Given the description of an element on the screen output the (x, y) to click on. 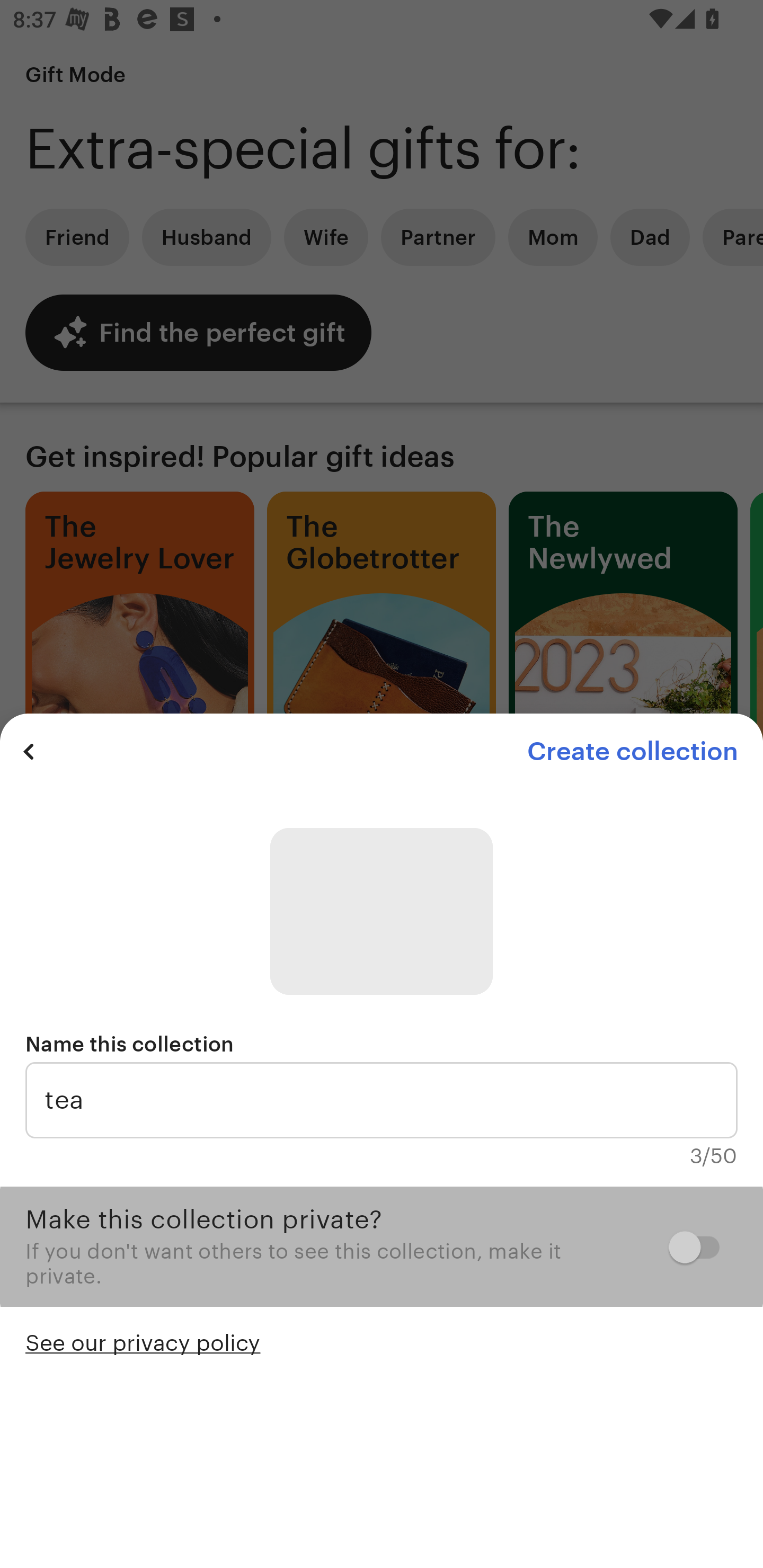
Previous (28, 751)
Create collection (632, 751)
tea (381, 1099)
See our privacy policy (142, 1341)
